Given the description of an element on the screen output the (x, y) to click on. 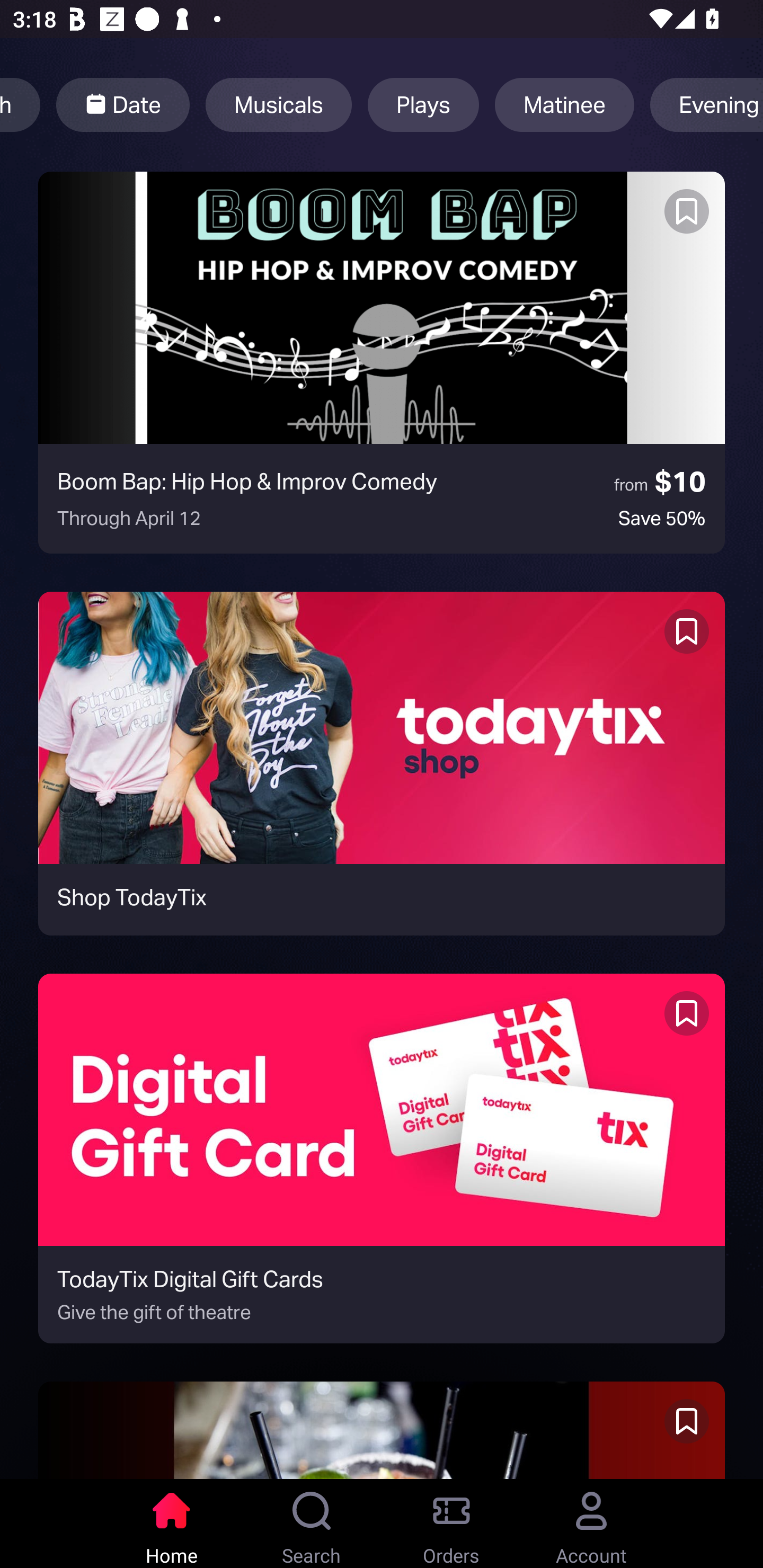
Date (122, 104)
Musicals (278, 104)
Plays (423, 104)
Matinee (564, 104)
Shop TodayTix (381, 763)
Search (311, 1523)
Orders (451, 1523)
Account (591, 1523)
